Given the description of an element on the screen output the (x, y) to click on. 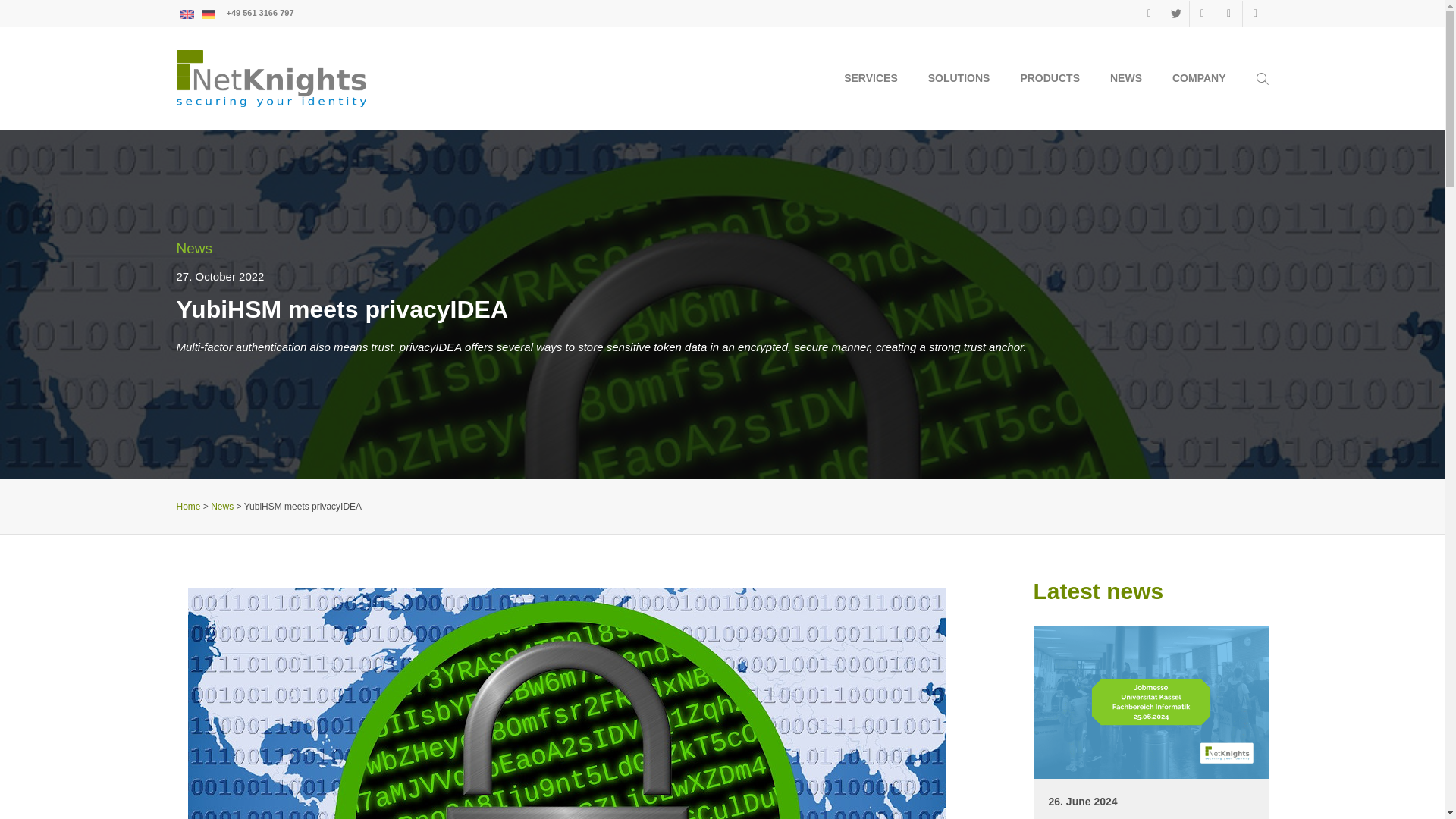
SERVICES (870, 77)
SOLUTIONS (959, 77)
Go to News. (221, 506)
PRODUCTS (1049, 77)
